Given the description of an element on the screen output the (x, y) to click on. 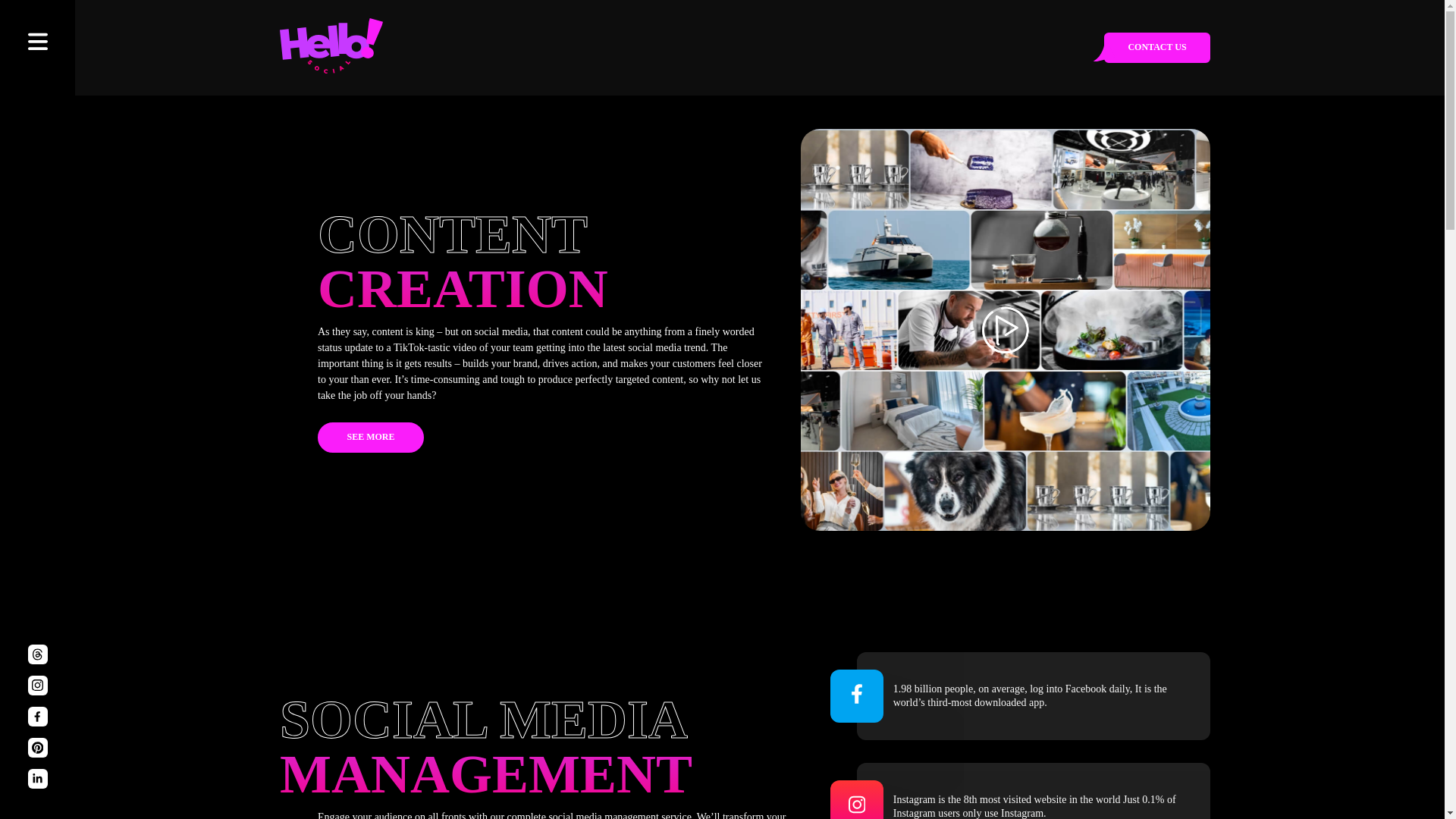
Hello Social (306, 47)
SEE MORE (370, 437)
CONTACT US (1156, 47)
